Given the description of an element on the screen output the (x, y) to click on. 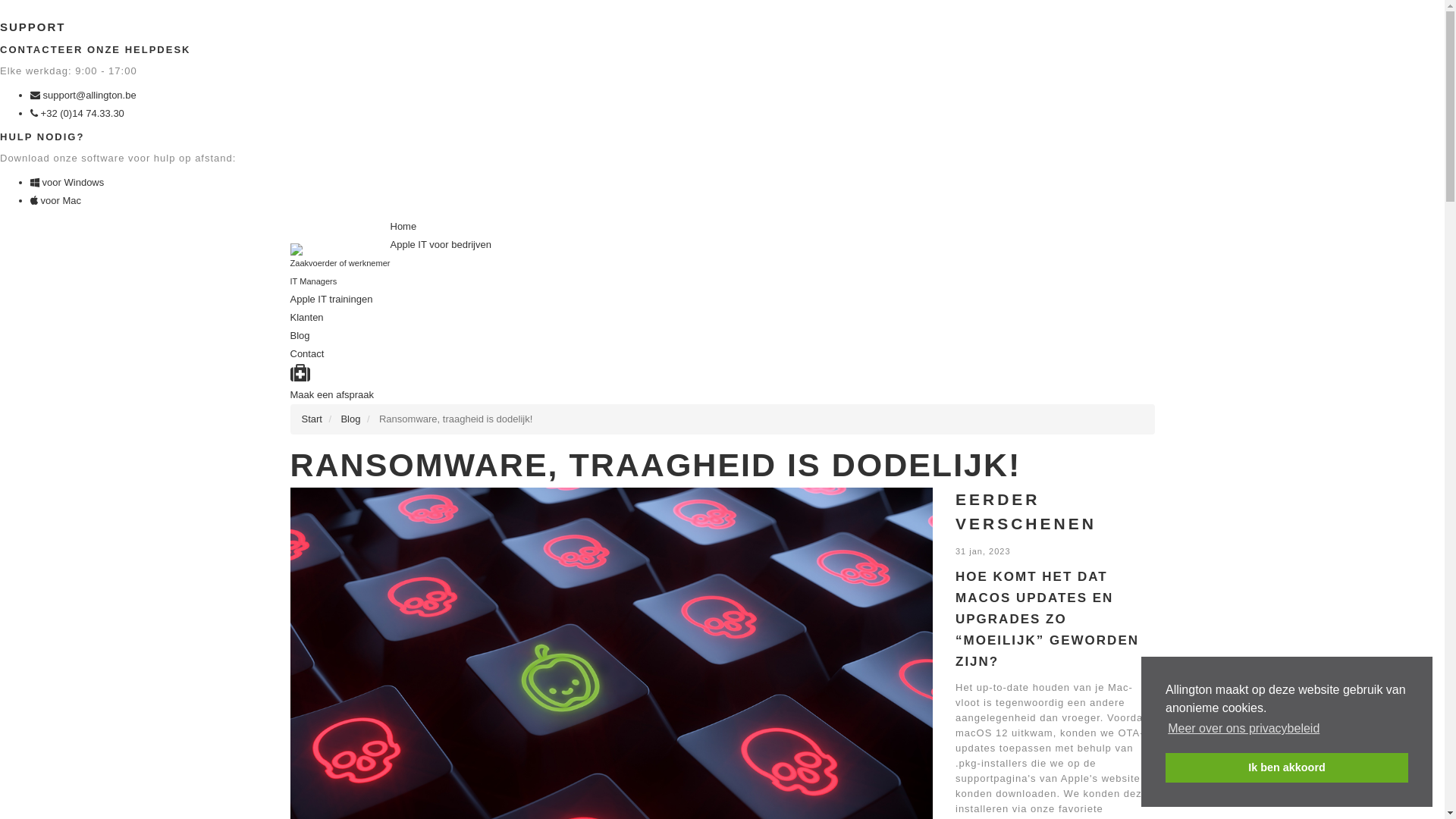
Ik ben akkoord Element type: text (1286, 767)
support@allington.be Element type: text (83, 94)
voor Windows Element type: text (66, 182)
Home Element type: text (402, 226)
Blog Element type: text (299, 335)
Apple IT voor bedrijven Element type: text (439, 244)
Zaakvoerder of werknemer Element type: text (339, 262)
Contact Element type: text (306, 353)
Support Element type: hover (299, 376)
Blog Element type: text (350, 418)
voor Mac Element type: text (55, 200)
Maak een afspraak Element type: text (331, 394)
IT Managers Element type: text (312, 280)
Klanten Element type: text (306, 317)
+32 (0)14 74.33.30 Element type: text (77, 113)
Apple IT trainingen Element type: text (330, 298)
Meer over ons privacybeleid Element type: text (1243, 728)
Start Element type: text (311, 418)
